Given the description of an element on the screen output the (x, y) to click on. 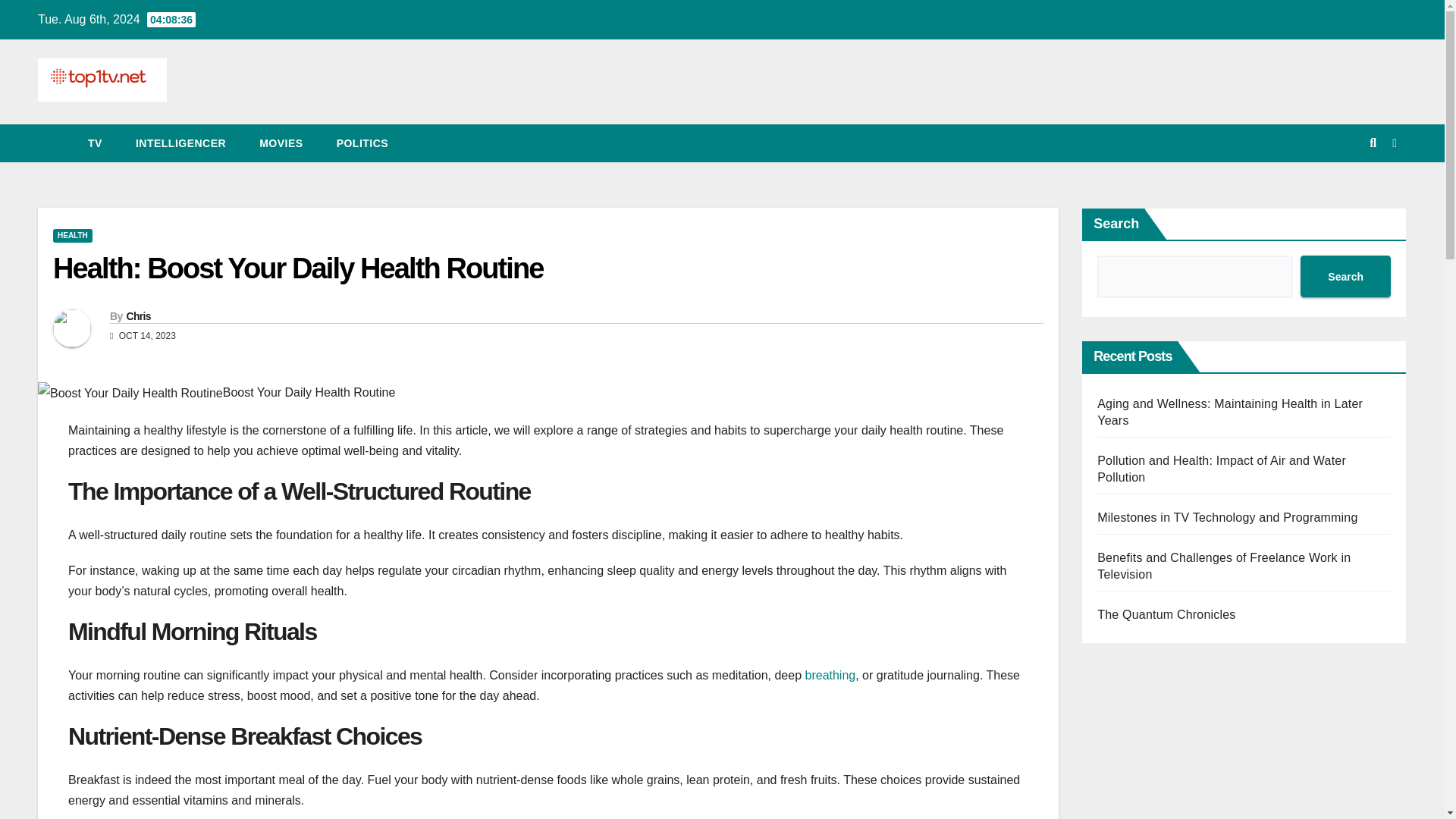
TV (95, 143)
INTELLIGENCER (181, 143)
breathing (830, 675)
MOVIES (280, 143)
HEALTH (72, 235)
Chris (137, 316)
Movies (280, 143)
INTELLIGENCER (181, 143)
Health: Boost Your Daily Health Routine (297, 268)
Politics (363, 143)
